Given the description of an element on the screen output the (x, y) to click on. 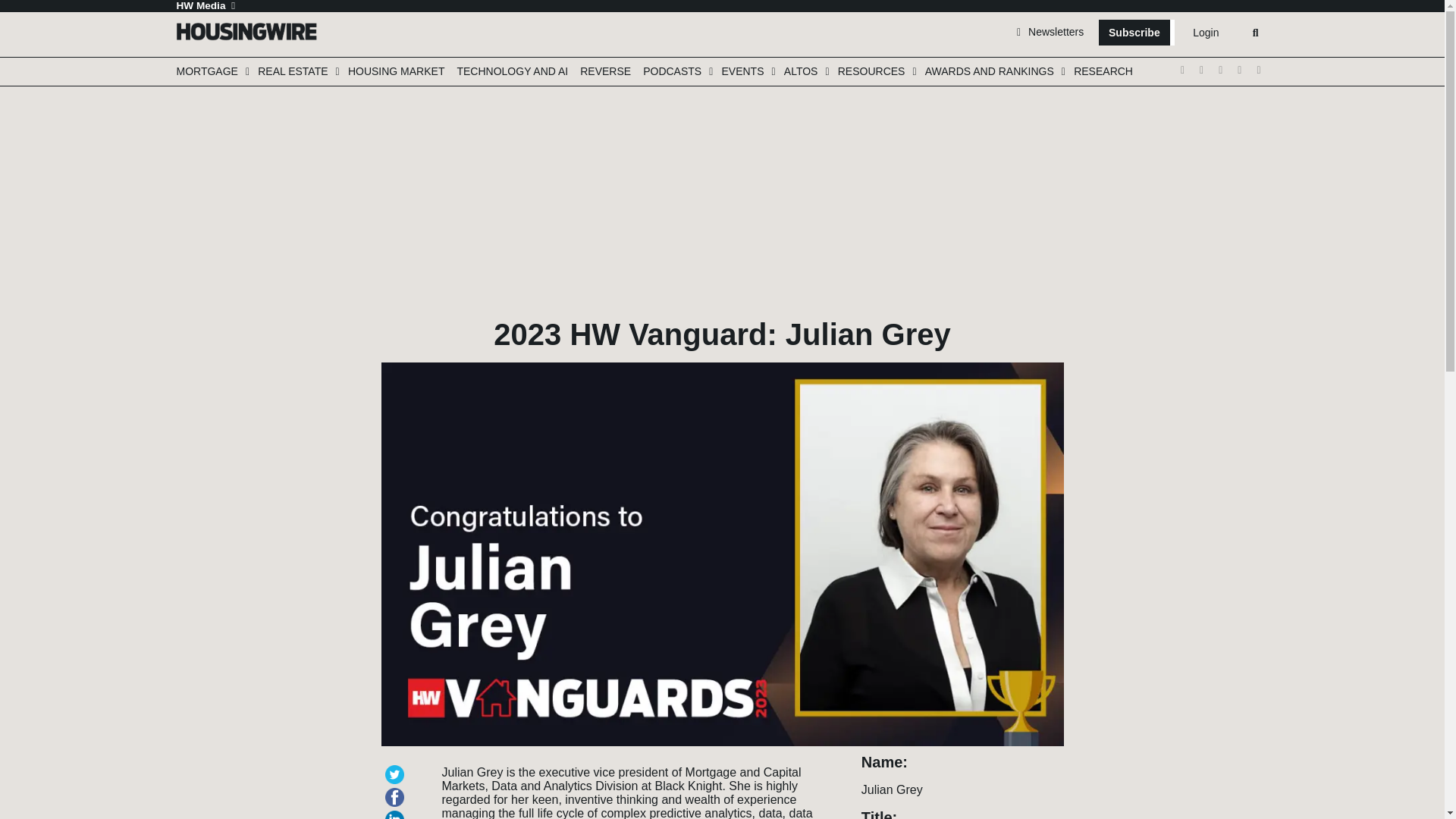
Login (1205, 32)
Click to share on Facebook (398, 790)
Click to share on LinkedIn (398, 812)
Newsletters (1049, 31)
Click to share on Twitter (398, 767)
